Given the description of an element on the screen output the (x, y) to click on. 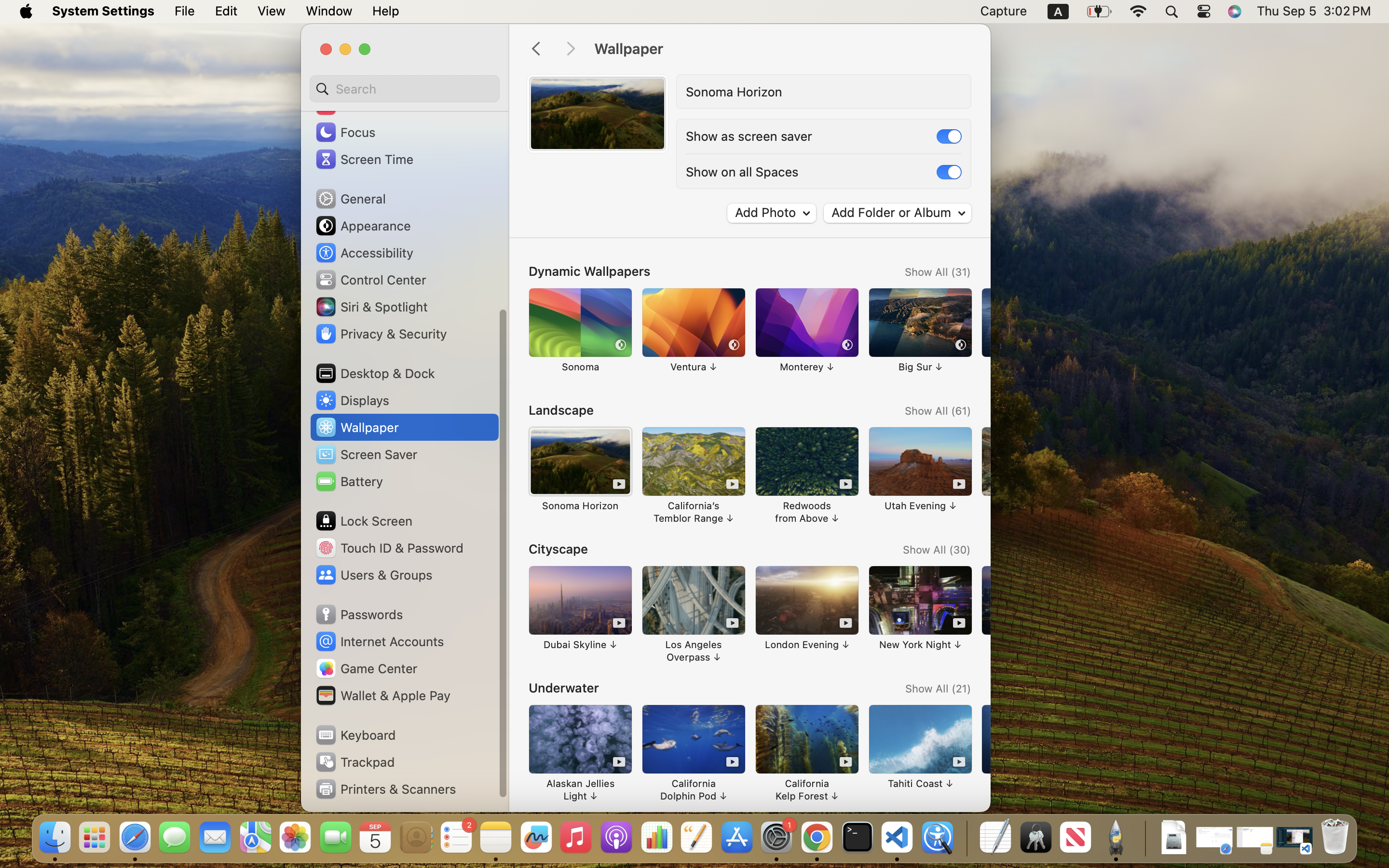
Dynamic Wallpapers Element type: AXStaticText (589, 270)
Game Center Element type: AXStaticText (365, 667)
Wallet & Apple Pay Element type: AXStaticText (382, 694)
Appearance Element type: AXStaticText (362, 225)
Focus Element type: AXStaticText (344, 131)
